Given the description of an element on the screen output the (x, y) to click on. 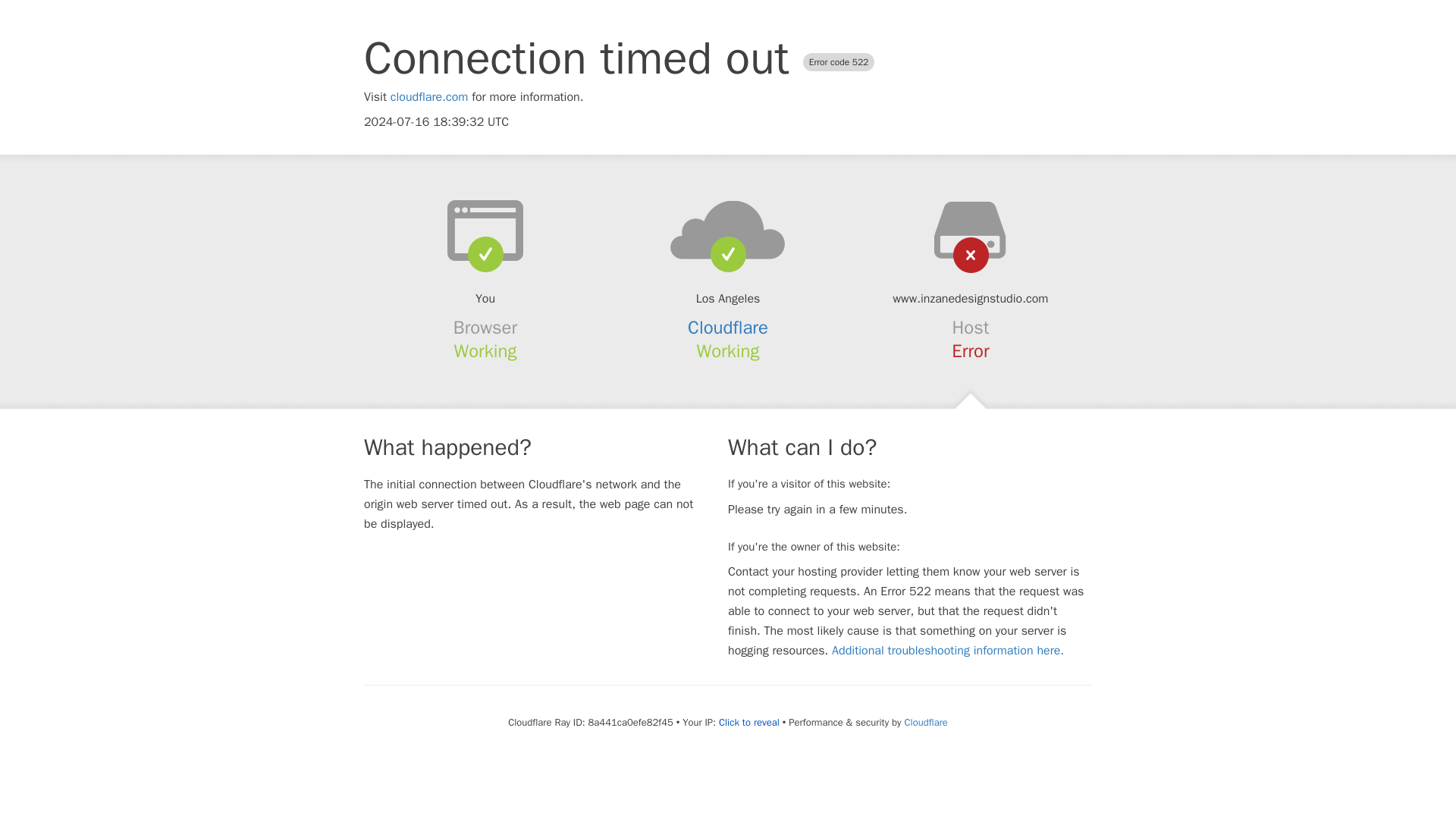
Cloudflare (727, 327)
cloudflare.com (429, 96)
Additional troubleshooting information here. (947, 650)
Click to reveal (748, 722)
Cloudflare (925, 721)
